Given the description of an element on the screen output the (x, y) to click on. 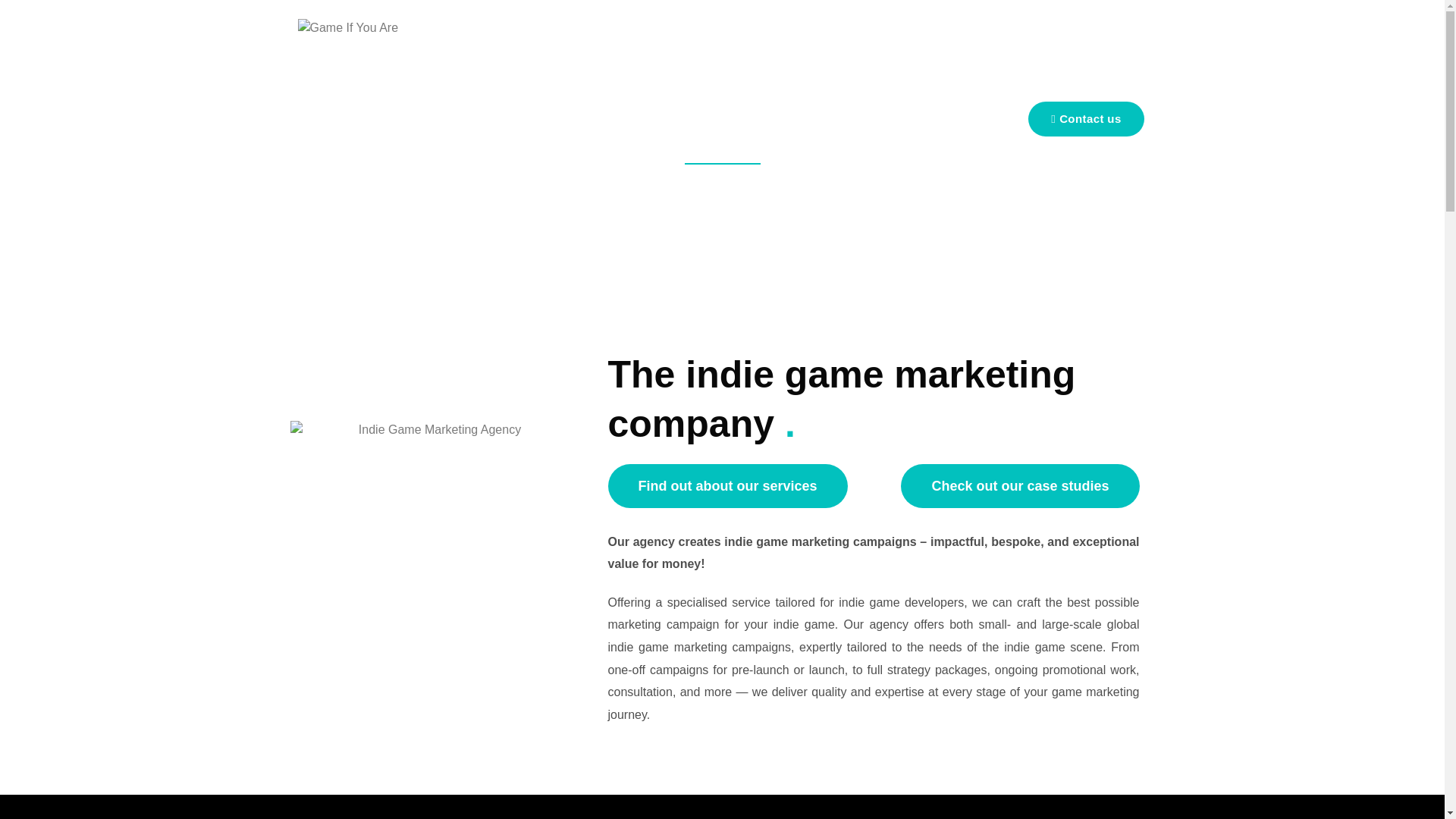
Contact us (1084, 118)
SERVICES (684, 98)
BLOG (836, 98)
WORK FOR US! (941, 138)
CASE STUDIES (767, 98)
Find out about our services (727, 485)
Check out our case studies (1019, 485)
MEDIA REGISTRATION (924, 98)
ABOUT US (608, 98)
